Given the description of an element on the screen output the (x, y) to click on. 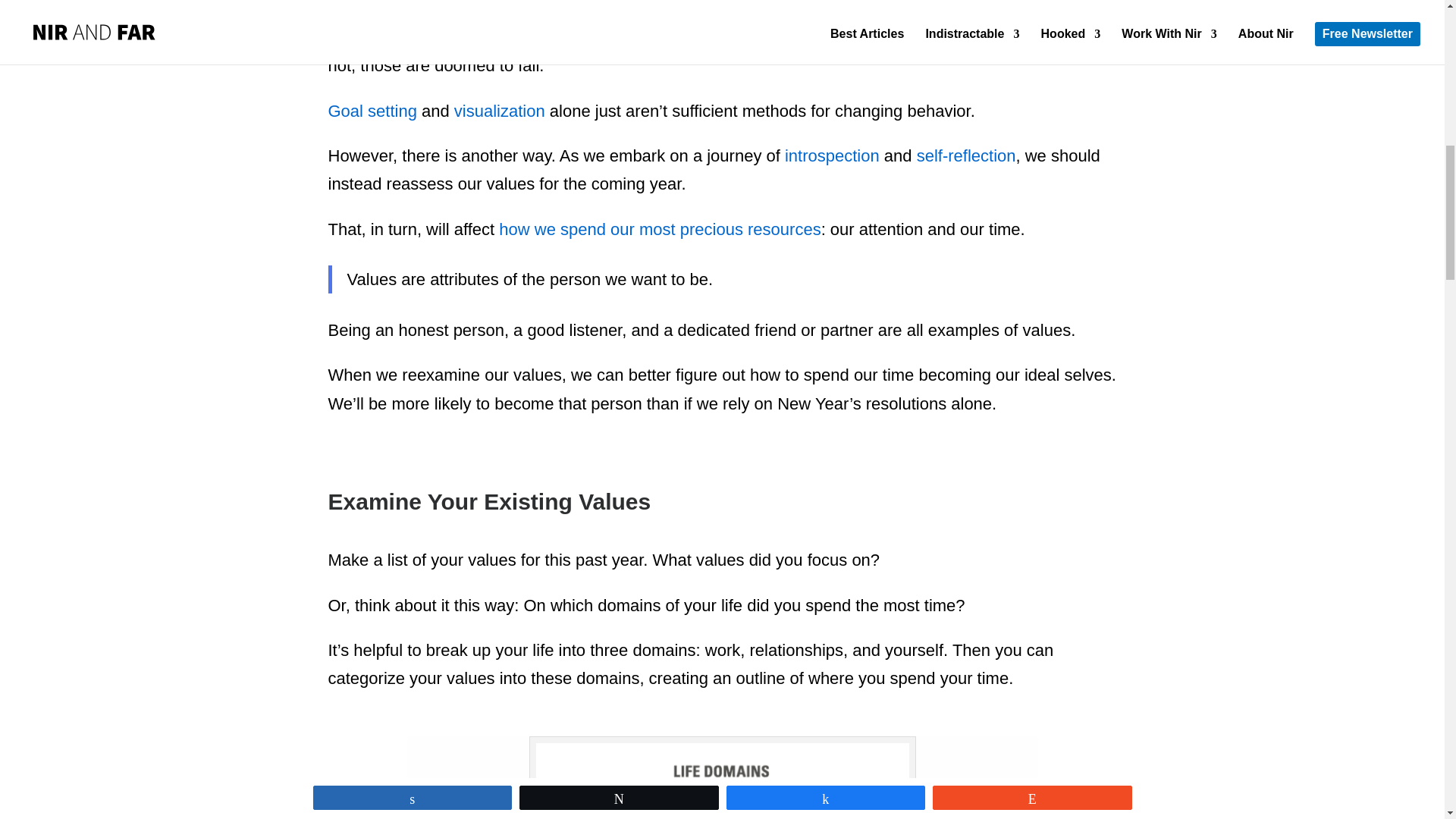
introspection (831, 155)
Goal setting (371, 110)
visualization (499, 110)
how we spend our most precious resources (660, 229)
self-reflection (966, 155)
